Given the description of an element on the screen output the (x, y) to click on. 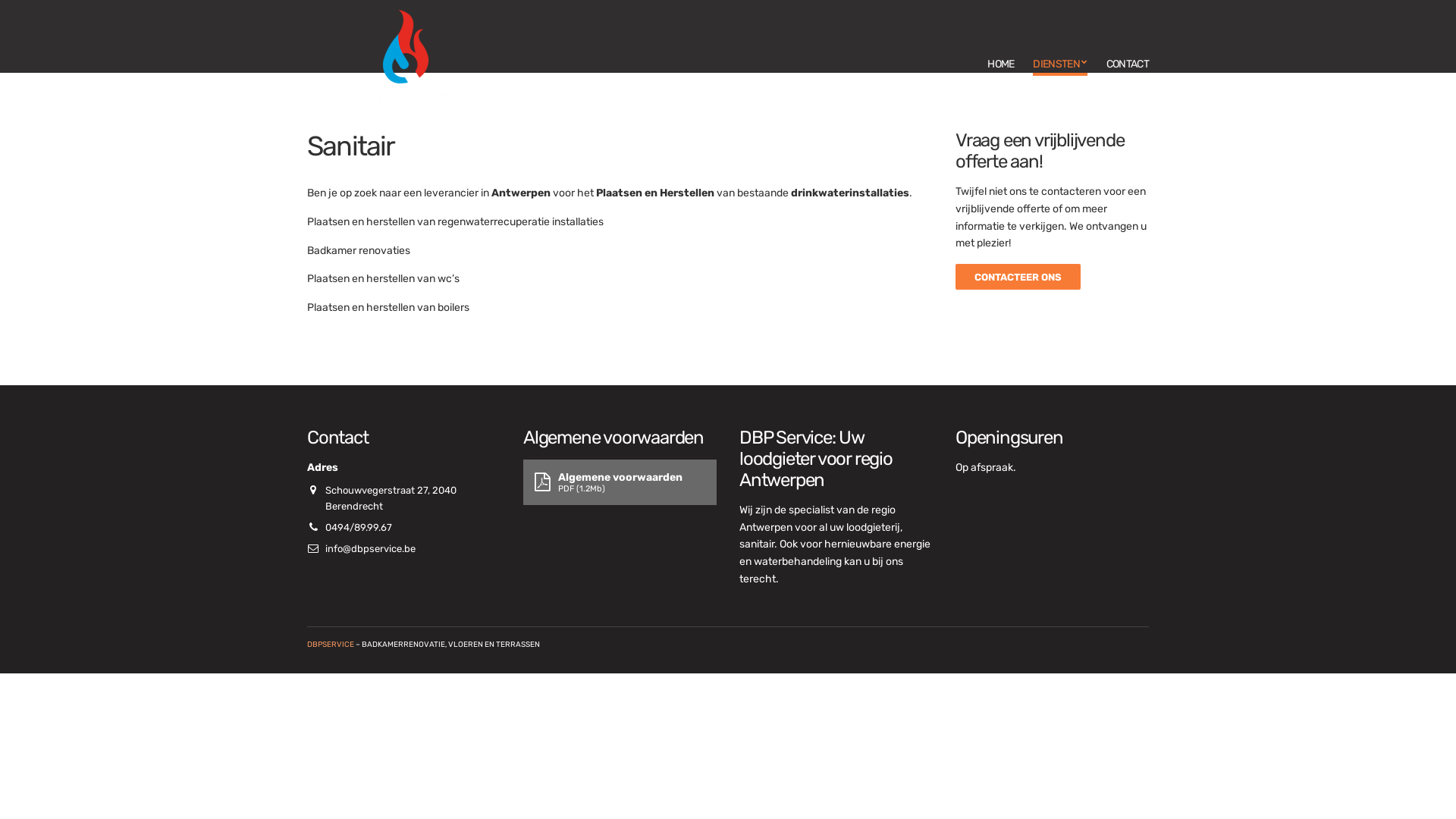
DBPSERVICE Element type: text (330, 644)
DIENSTEN Element type: text (1059, 66)
HOME Element type: text (1000, 66)
Algemene voorwaarden
PDF (1.2Mb) Element type: text (619, 482)
CONTACT Element type: text (1127, 66)
CONTACTEER ONS Element type: text (1017, 276)
